Given the description of an element on the screen output the (x, y) to click on. 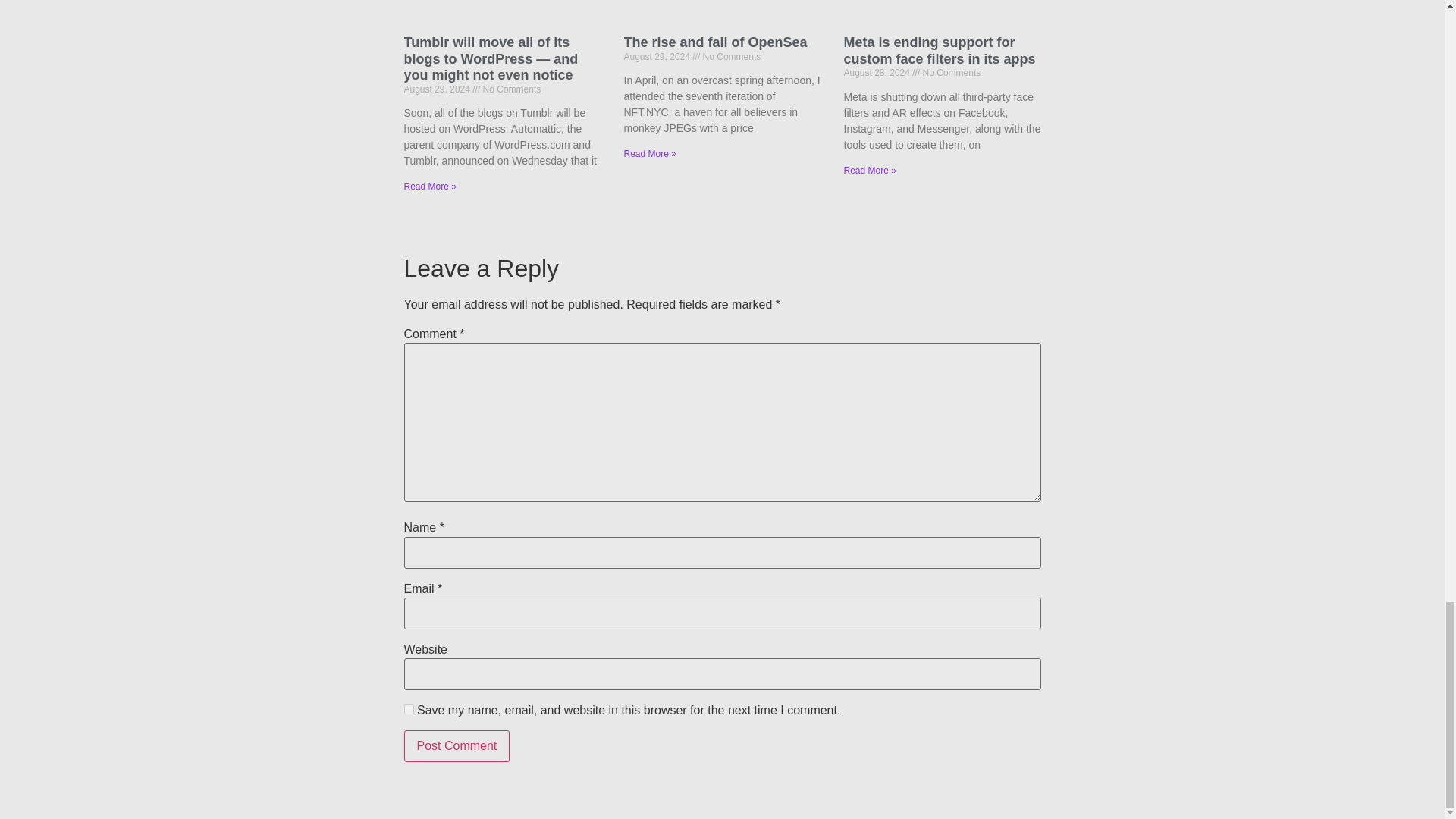
yes (408, 709)
Meta is ending support for custom face filters in its apps (939, 50)
The rise and fall of OpenSea (714, 42)
Post Comment (456, 746)
Post Comment (456, 746)
